Given the description of an element on the screen output the (x, y) to click on. 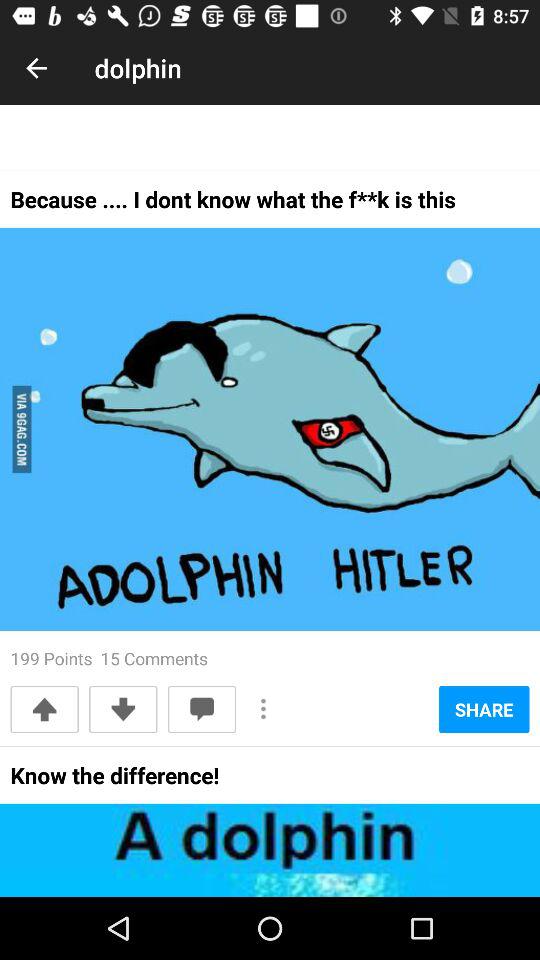
flip until 199 points 	15 item (109, 658)
